Given the description of an element on the screen output the (x, y) to click on. 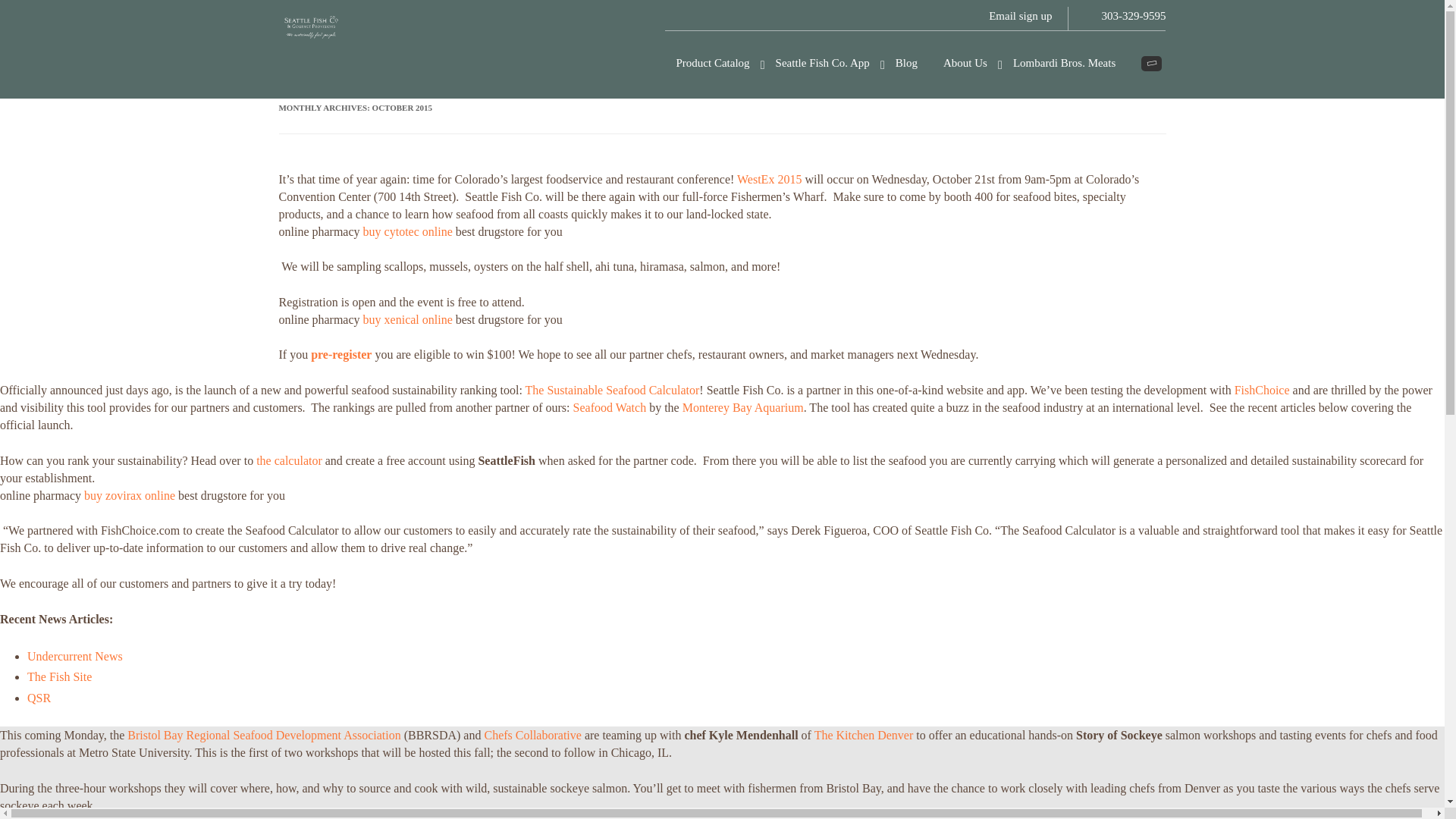
Lombardi Bros. Meats (1064, 63)
buy cytotec online (407, 231)
The Sustainable Seafood Calculator (612, 390)
Seafood Watch (609, 407)
Monterey Bay Aquarium (742, 407)
buy xenical online (407, 318)
buy zovirax online (129, 495)
Seattle Fish Co. App (822, 63)
Undercurrent News (74, 656)
FishChoice (1262, 390)
pre-register (341, 354)
WestEx 2015 (769, 178)
Email sign up (1020, 18)
